Given the description of an element on the screen output the (x, y) to click on. 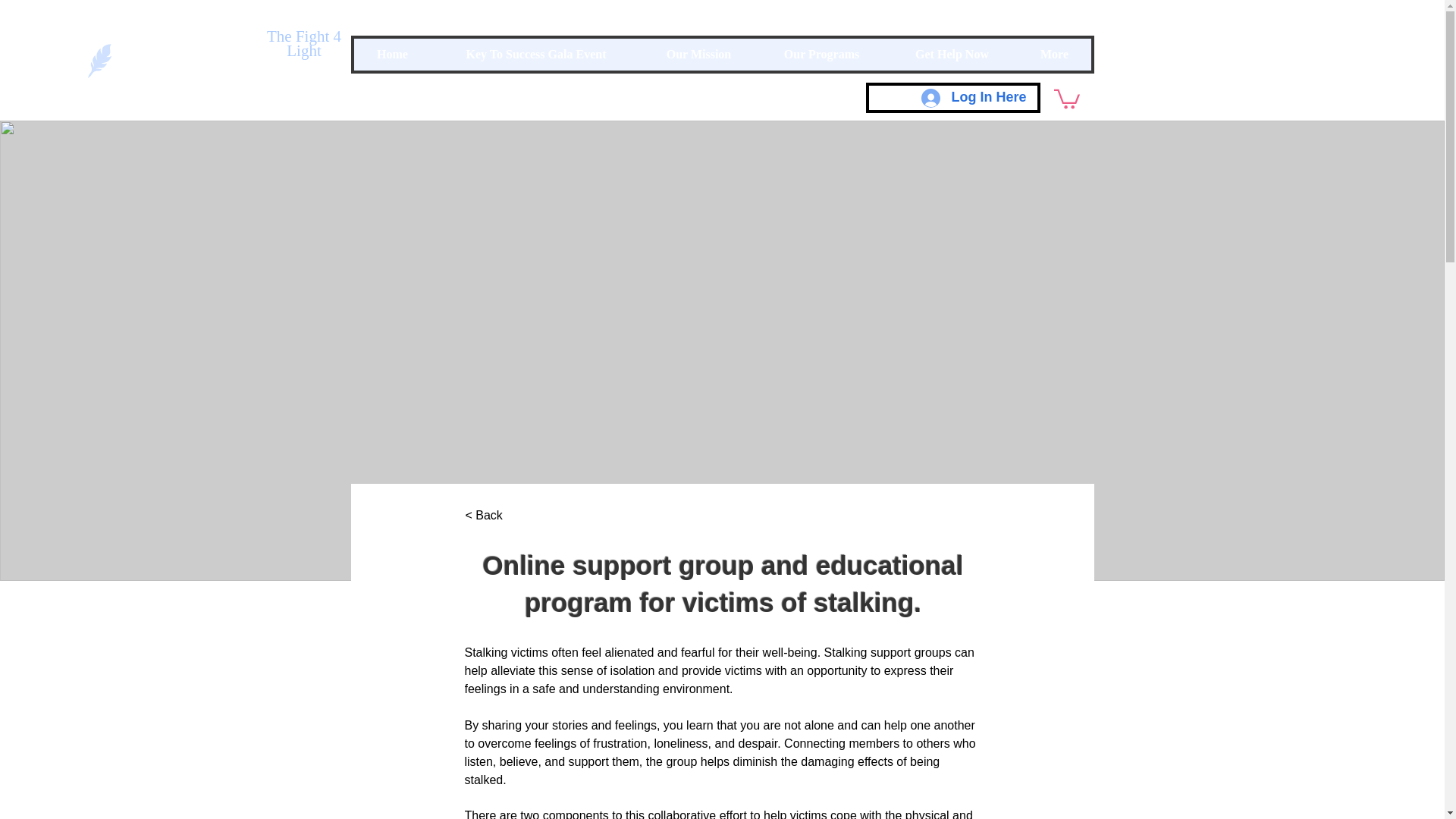
Our Mission (697, 54)
Home (391, 54)
Key To Success Gala Event (535, 54)
Get Help Now (950, 54)
Log In Here (973, 97)
Our Programs (821, 54)
